Given the description of an element on the screen output the (x, y) to click on. 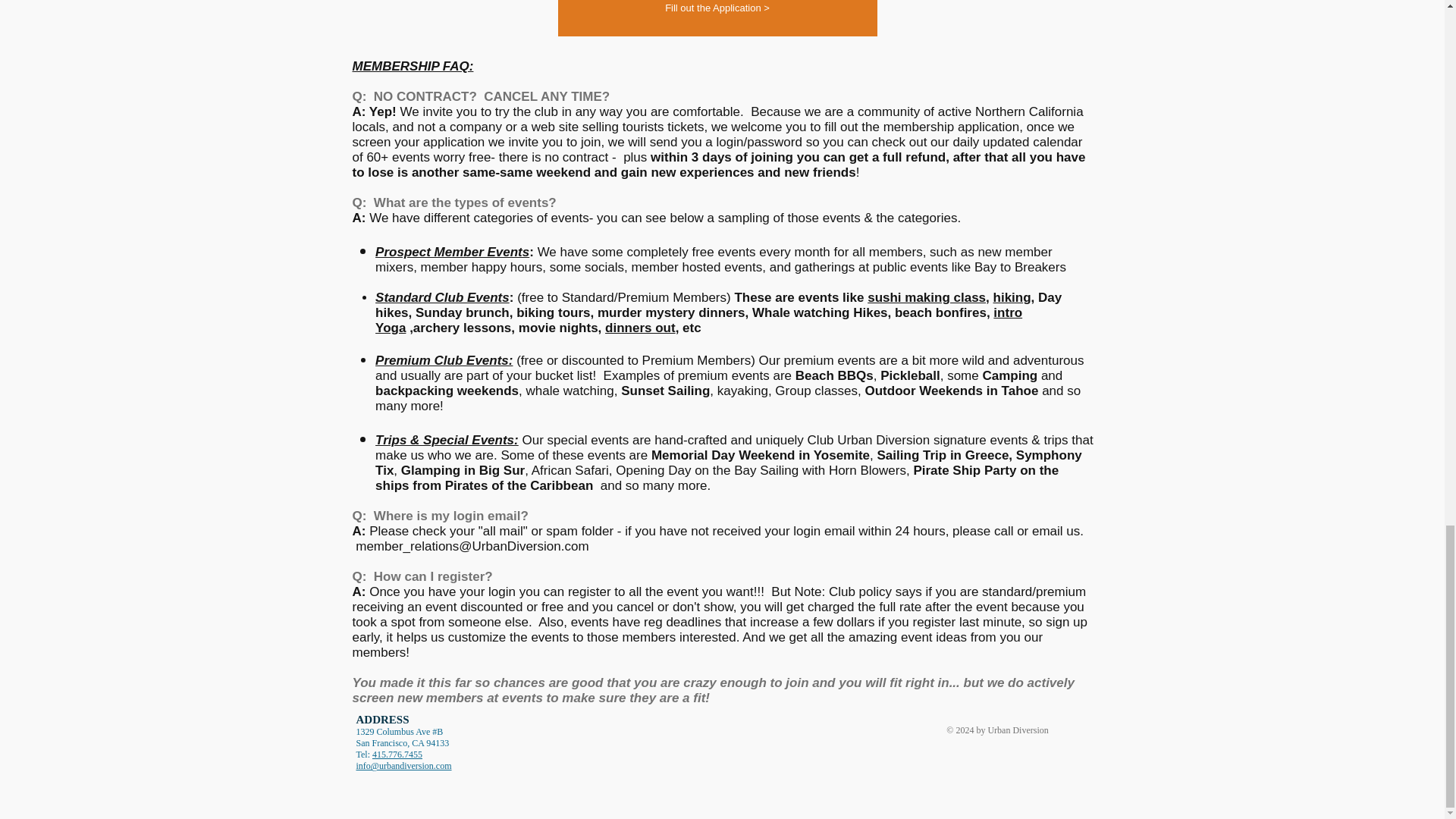
Opening Day on the Bay Sailing with Horn Blowers (760, 470)
Pirate Ship Party on the ships from Pirates of the Caribbean (716, 478)
hiking (1011, 297)
Camping and backpacking weekends, whale watching (718, 383)
dinners out (640, 327)
kayaking (742, 391)
 classes (833, 391)
sushi making class (926, 297)
Memorial Day Weekend in Yosemite (759, 454)
Outdoor Weekends in Tahoe (951, 391)
intro Yoga (698, 319)
415.776.7455 (397, 754)
